Given the description of an element on the screen output the (x, y) to click on. 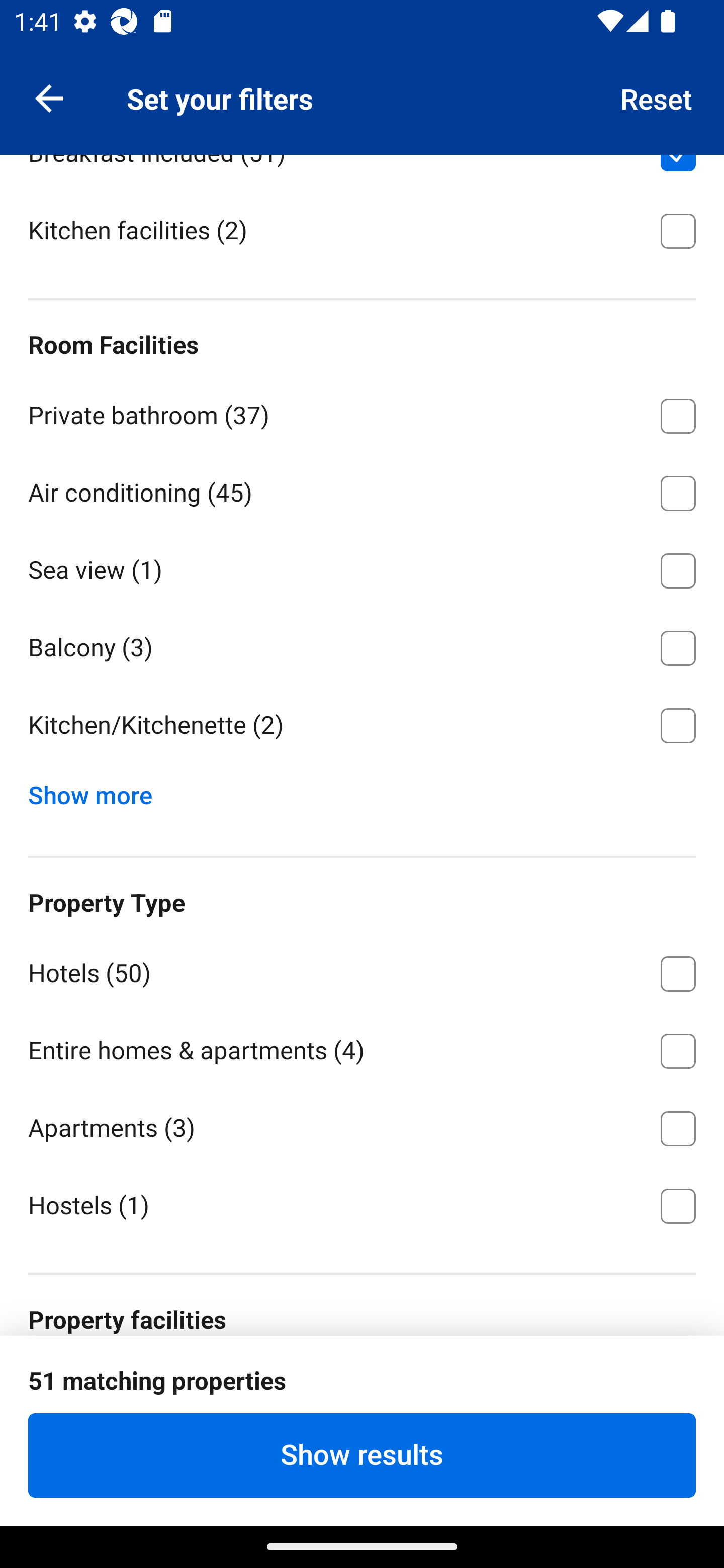
Navigate up (49, 97)
Reset (656, 97)
Kitchen facilities ⁦(2) (361, 229)
Private bathroom ⁦(37) (361, 412)
Air conditioning ⁦(45) (361, 489)
Sea view ⁦(1) (361, 567)
Balcony ⁦(3) (361, 644)
Kitchen/Kitchenette ⁦(2) (361, 725)
Show more (97, 790)
Hotels ⁦(50) (361, 970)
Entire homes & apartments ⁦(4) (361, 1047)
Apartments ⁦(3) (361, 1124)
Hostels ⁦(1) (361, 1203)
Swimming pool ⁦(6) (361, 1387)
Show results (361, 1454)
Free parking ⁦(34) (361, 1464)
Free WiFi ⁦(38) (361, 1535)
